Given the description of an element on the screen output the (x, y) to click on. 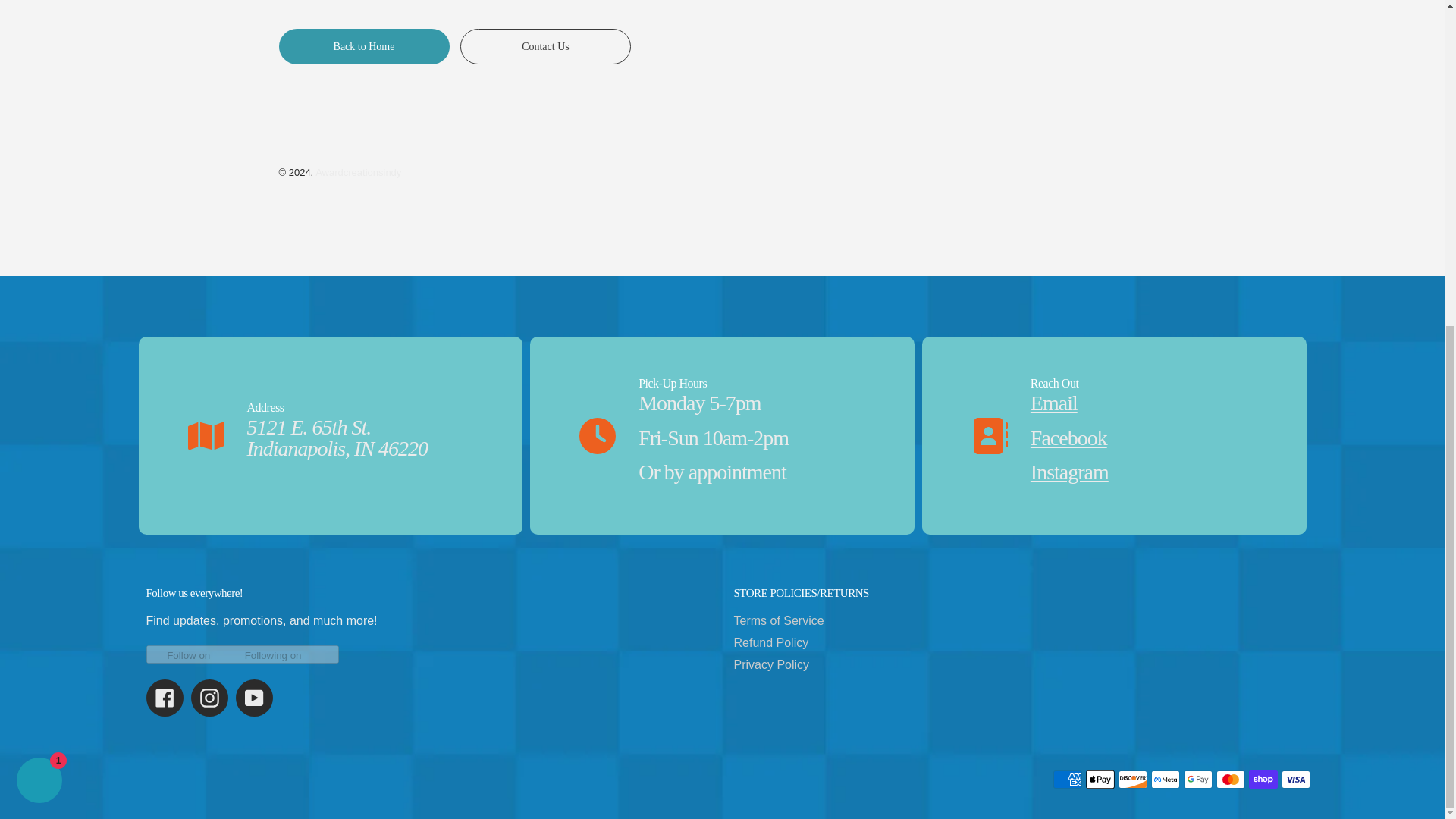
Shopify online store chat (38, 246)
